Given the description of an element on the screen output the (x, y) to click on. 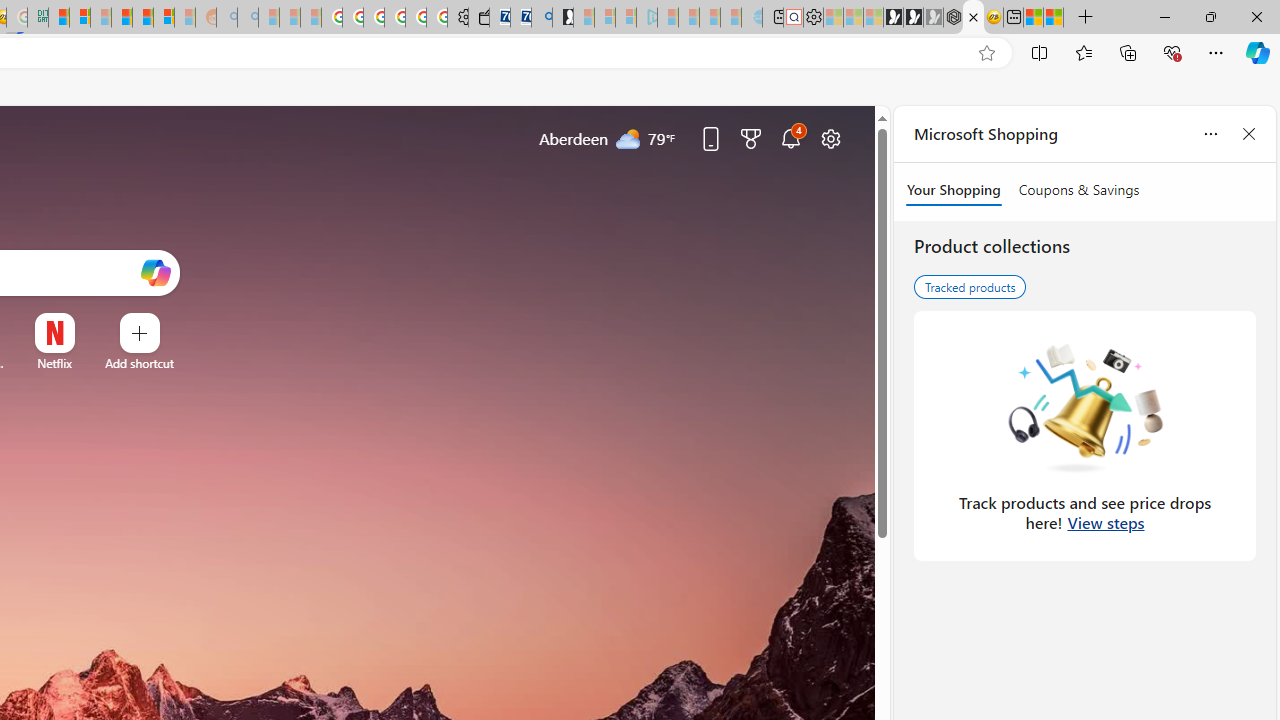
Cheap Car Rentals - Save70.com (520, 17)
